Given the description of an element on the screen output the (x, y) to click on. 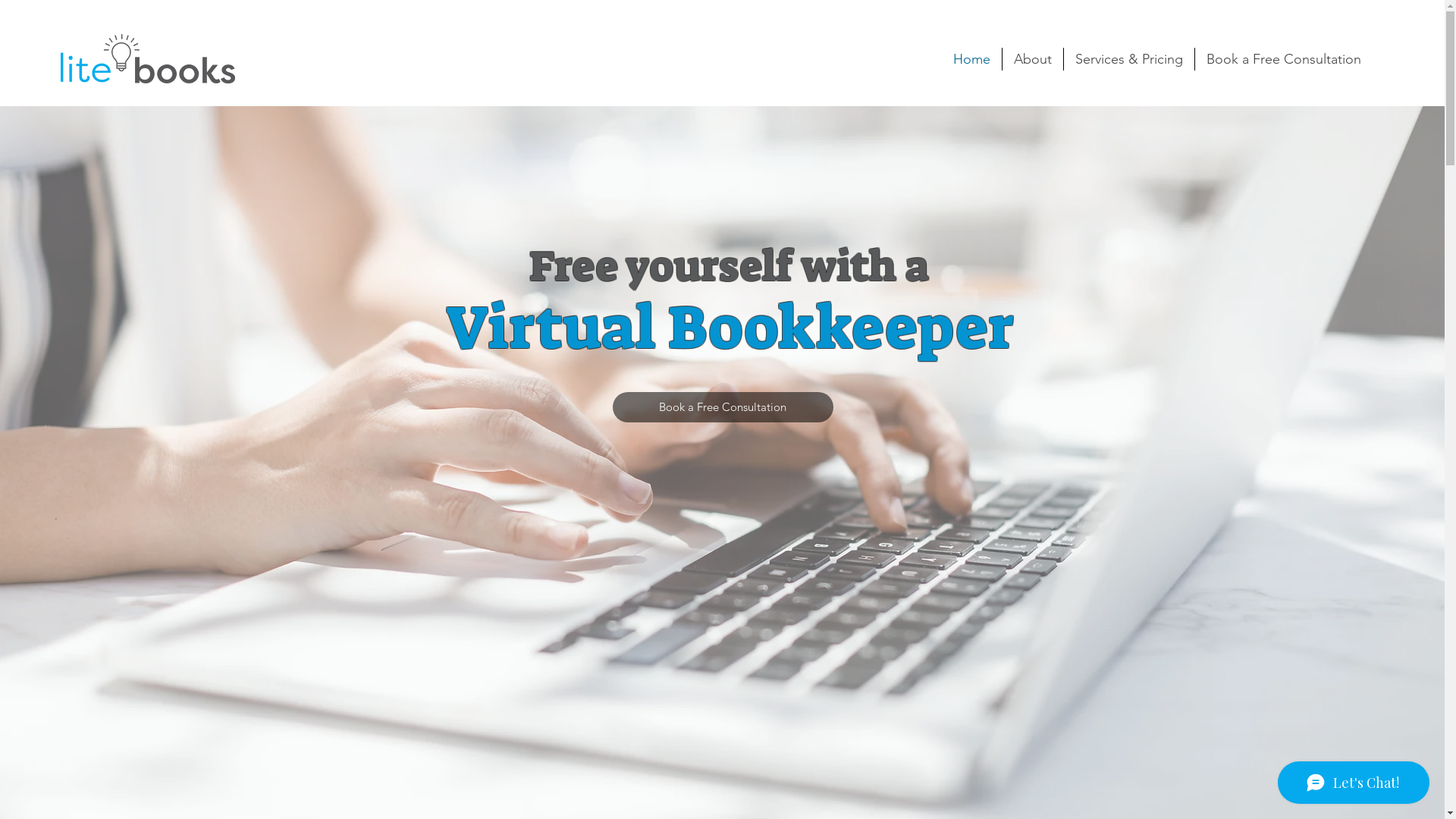
Book a Free Consultation Element type: text (722, 407)
Home Element type: text (971, 58)
Services & Pricing Element type: text (1128, 58)
About Element type: text (1032, 58)
Book a Free Consultation Element type: text (1283, 58)
